Given the description of an element on the screen output the (x, y) to click on. 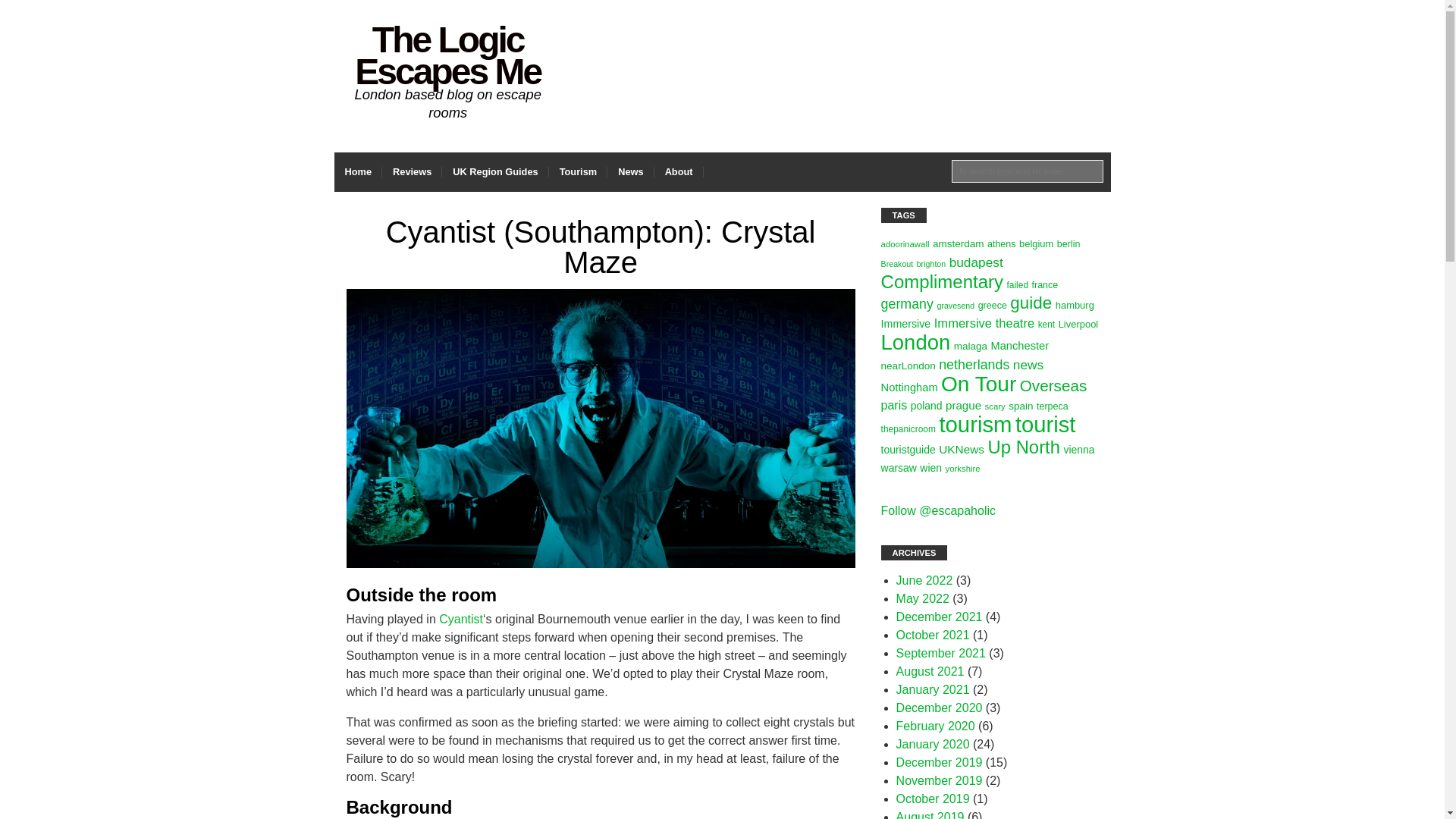
Reviews (411, 171)
News (630, 171)
Tourism (578, 171)
About (678, 171)
Home (357, 171)
The Logic Escapes Me (447, 55)
UK Region Guides (495, 171)
